Given the description of an element on the screen output the (x, y) to click on. 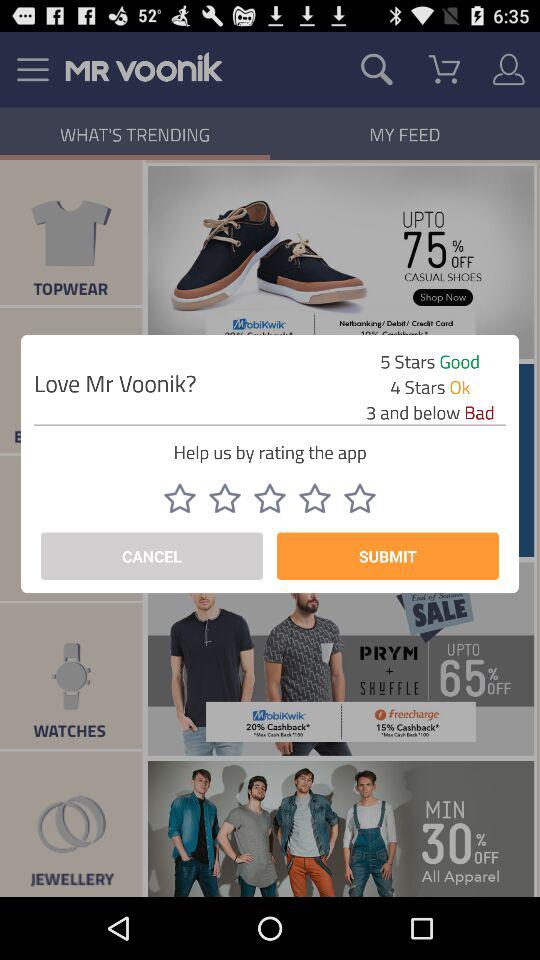
rate the app (360, 498)
